Given the description of an element on the screen output the (x, y) to click on. 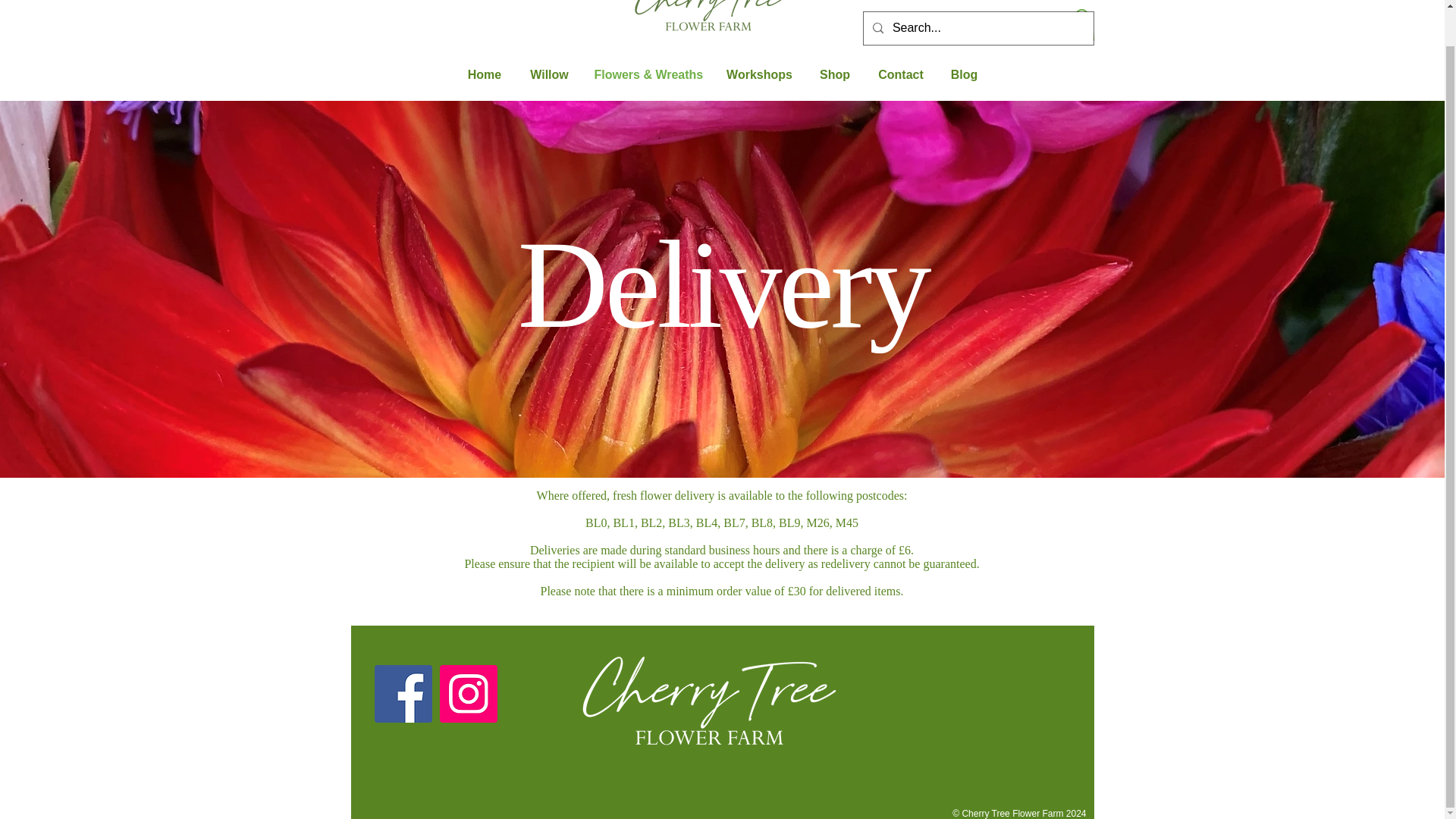
Contact (900, 74)
Blog (964, 74)
Shop (834, 74)
Home (484, 74)
Willow (548, 74)
Workshops (759, 74)
